Given the description of an element on the screen output the (x, y) to click on. 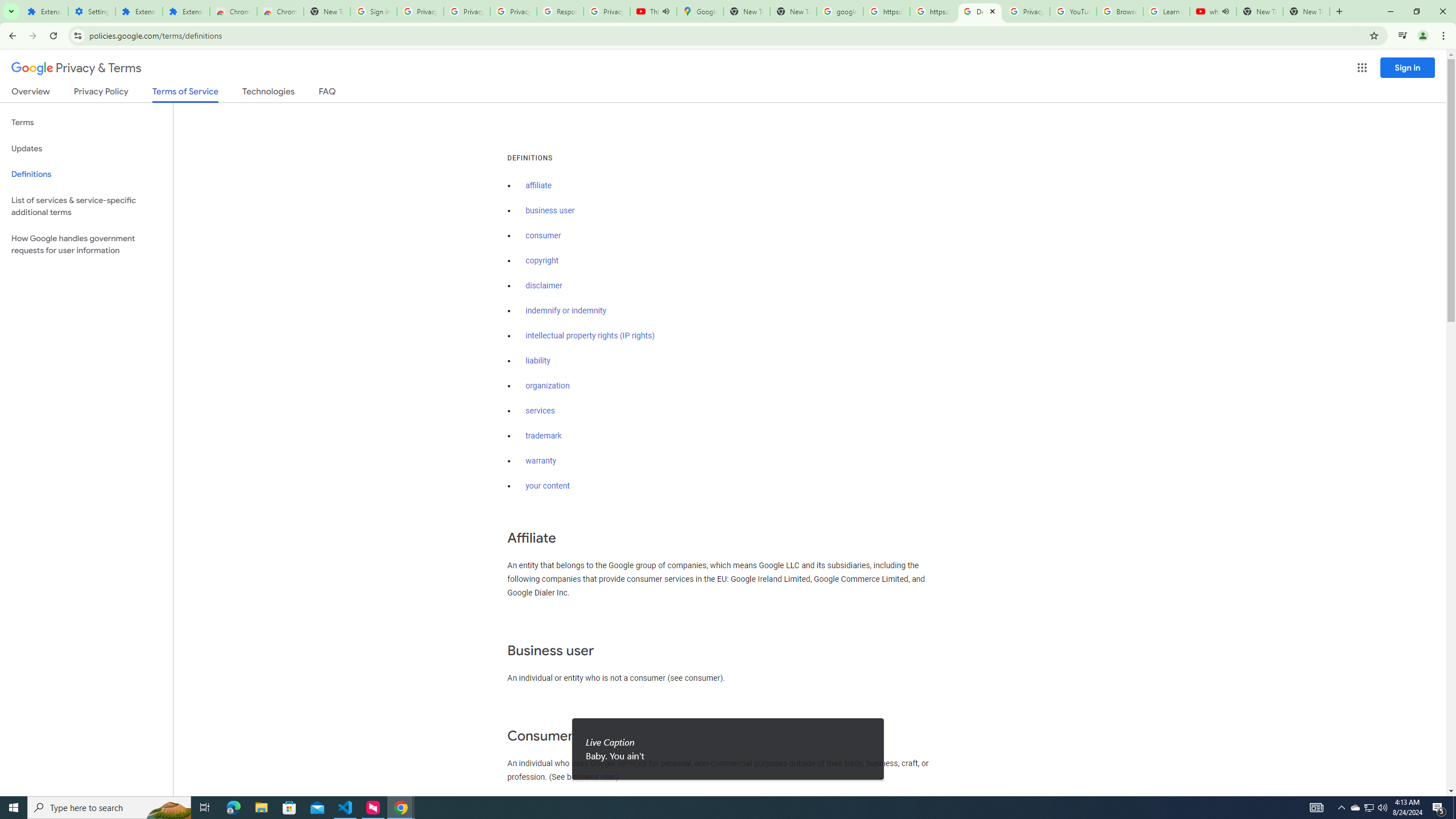
https://scholar.google.com/ (933, 11)
Terms of Service (184, 94)
Chrome Web Store - Themes (279, 11)
Privacy Policy (100, 93)
How Google handles government requests for user information (86, 244)
Mute tab (1225, 10)
trademark (543, 435)
warranty (540, 461)
indemnify or indemnity (565, 311)
